Given the description of an element on the screen output the (x, y) to click on. 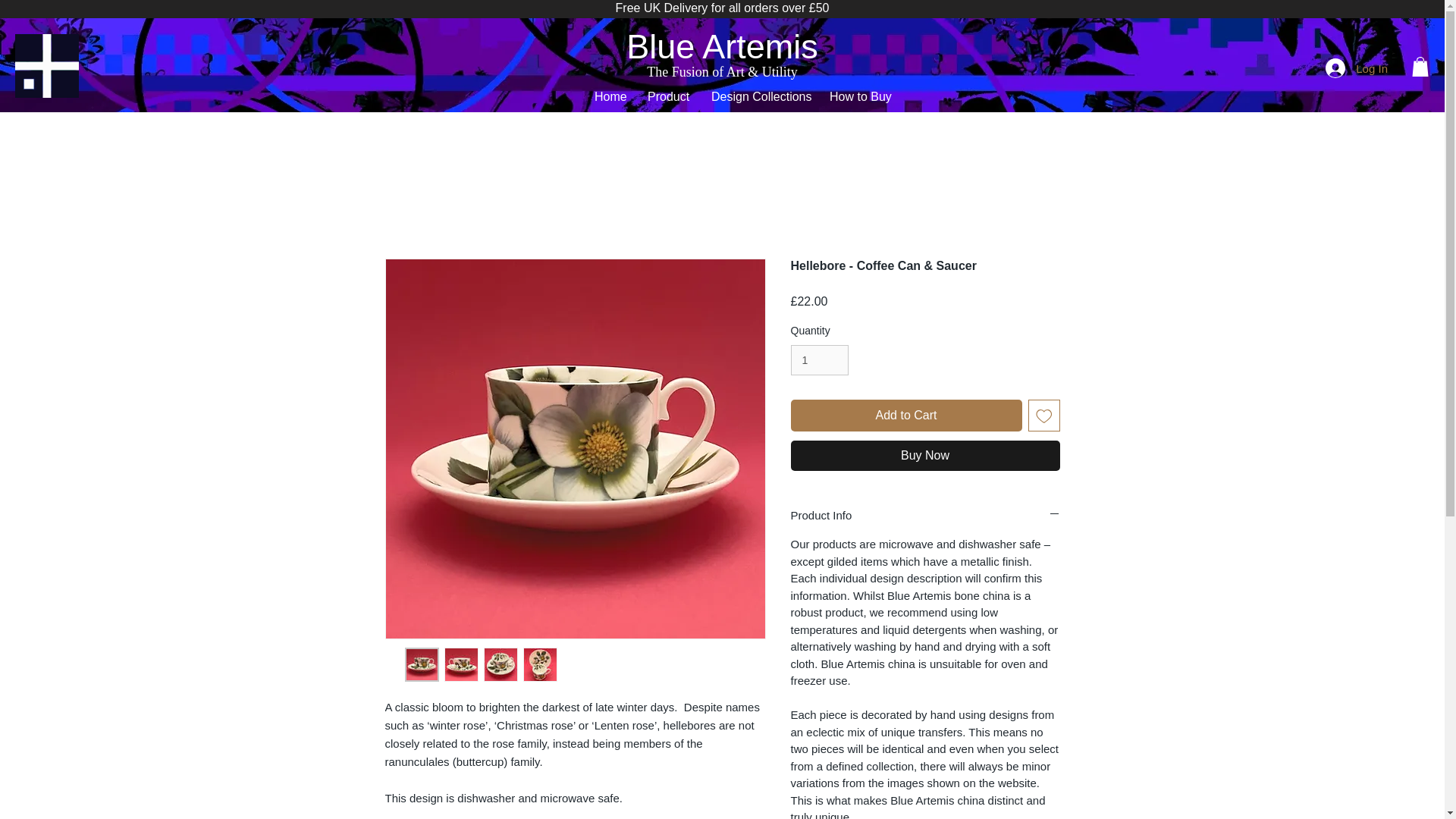
Add to Cart (906, 415)
Buy Now (924, 455)
Product Info (924, 514)
1 (818, 359)
Home (609, 96)
Log In (1355, 68)
